Given the description of an element on the screen output the (x, y) to click on. 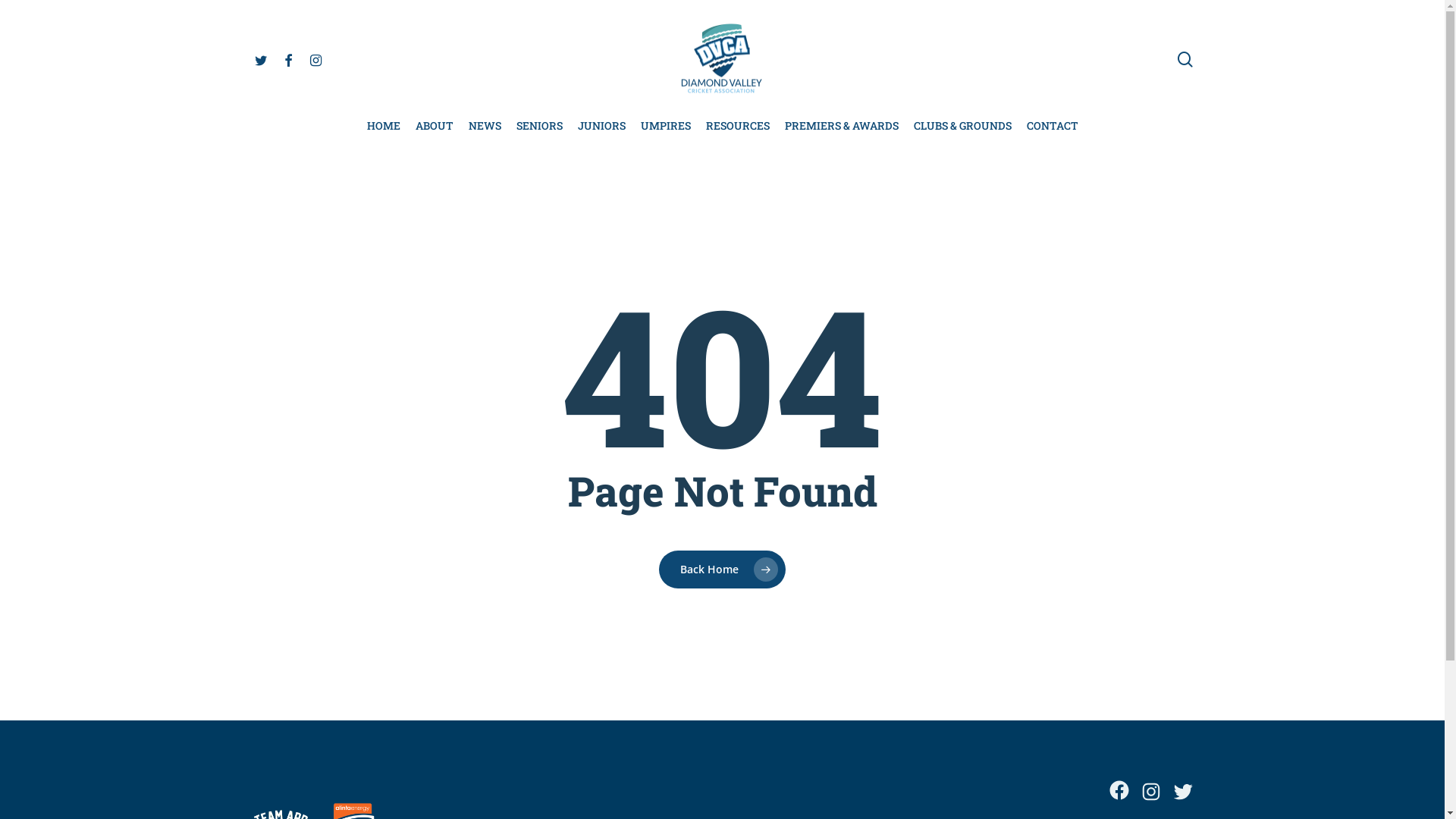
Instagram Element type: text (1150, 791)
PREMIERS & AWARDS Element type: text (840, 125)
JUNIORS Element type: text (601, 125)
ABOUT Element type: text (434, 125)
instagram Element type: text (315, 58)
twitter Element type: text (260, 58)
search Element type: text (1185, 59)
HOME Element type: text (383, 125)
CONTACT Element type: text (1052, 125)
facebook Element type: text (287, 58)
Facebook Element type: text (1118, 789)
CLUBS & GROUNDS Element type: text (961, 125)
SENIORS Element type: text (538, 125)
UMPIRES Element type: text (664, 125)
RESOURCES Element type: text (736, 125)
Back Home Element type: text (721, 569)
Twitter Element type: text (1182, 791)
NEWS Element type: text (484, 125)
